Given the description of an element on the screen output the (x, y) to click on. 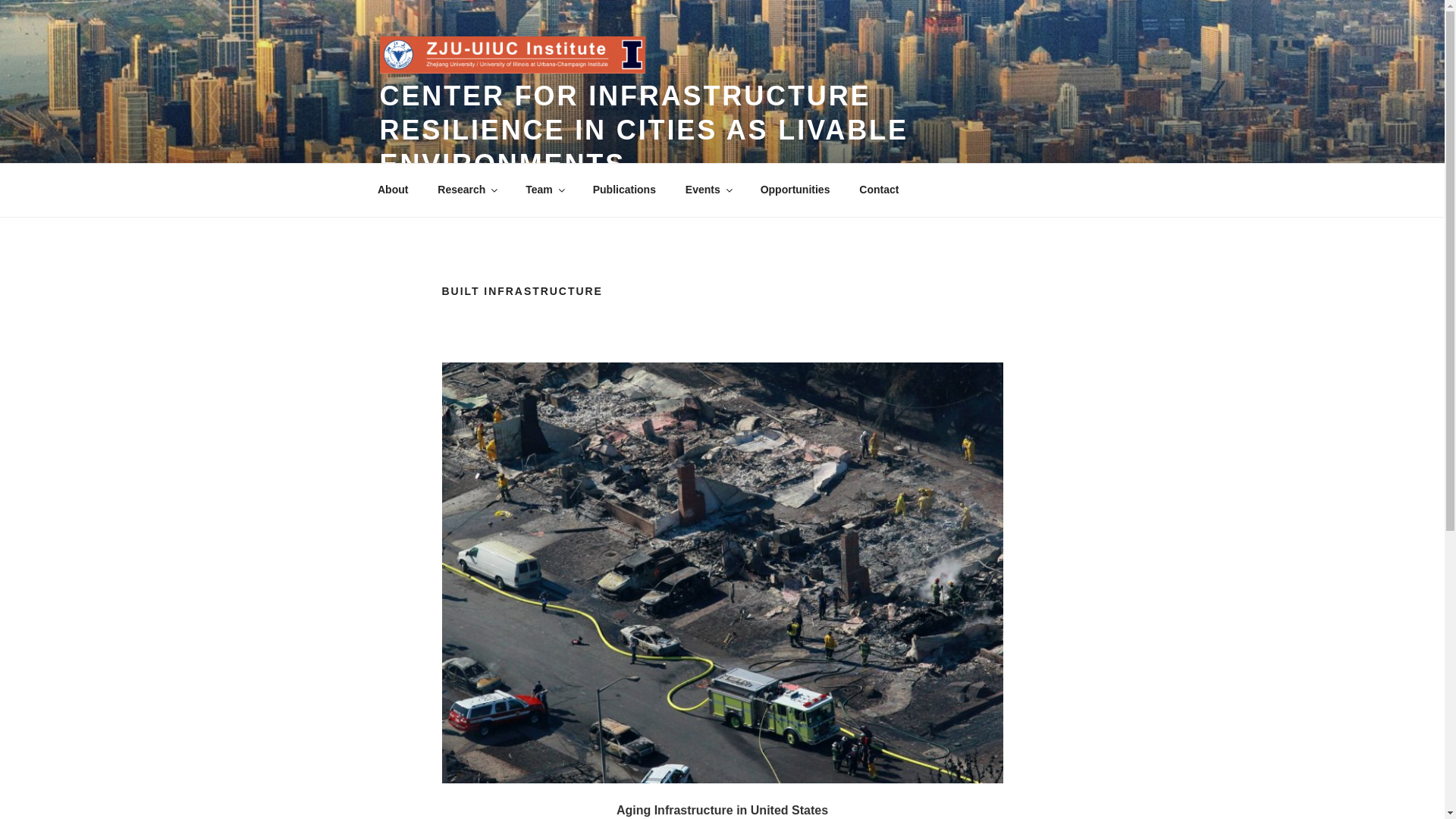
Events (707, 189)
Opportunities (794, 189)
About (392, 189)
Research (467, 189)
Contact (878, 189)
Publications (623, 189)
Team (544, 189)
